Given the description of an element on the screen output the (x, y) to click on. 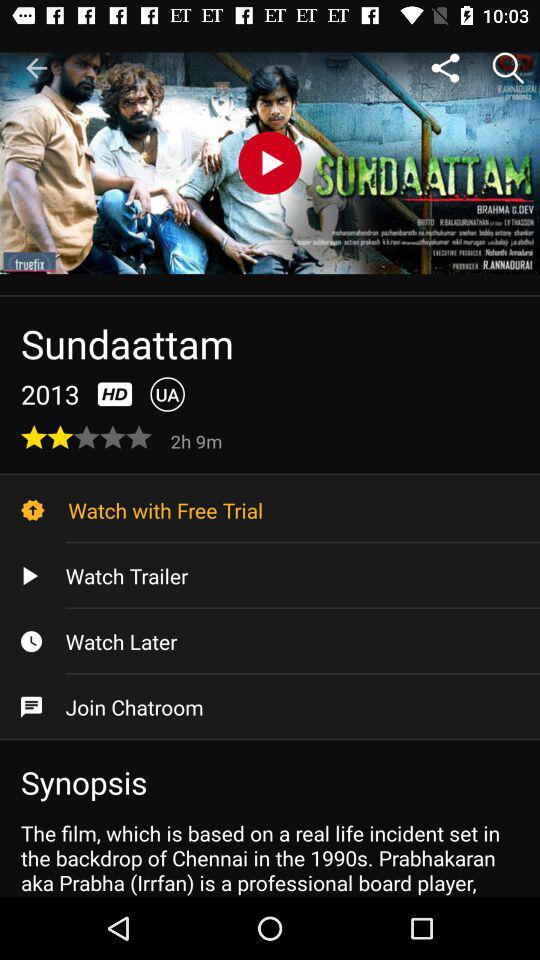
scroll to the 2h 9m  item (198, 440)
